Given the description of an element on the screen output the (x, y) to click on. 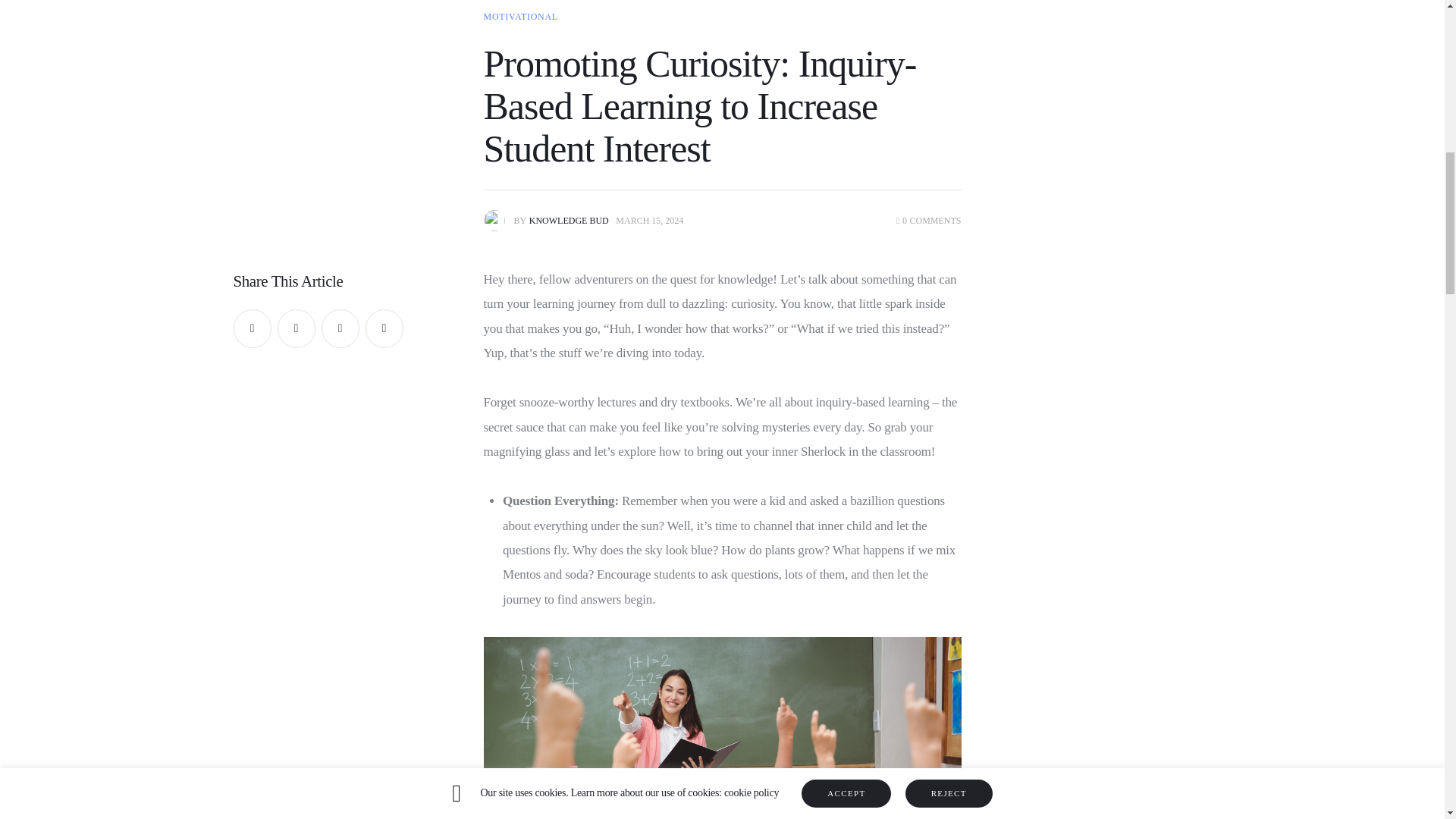
0COMMENTS (549, 219)
Copy URL to clipboard (928, 220)
MOTIVATIONAL (384, 328)
